Given the description of an element on the screen output the (x, y) to click on. 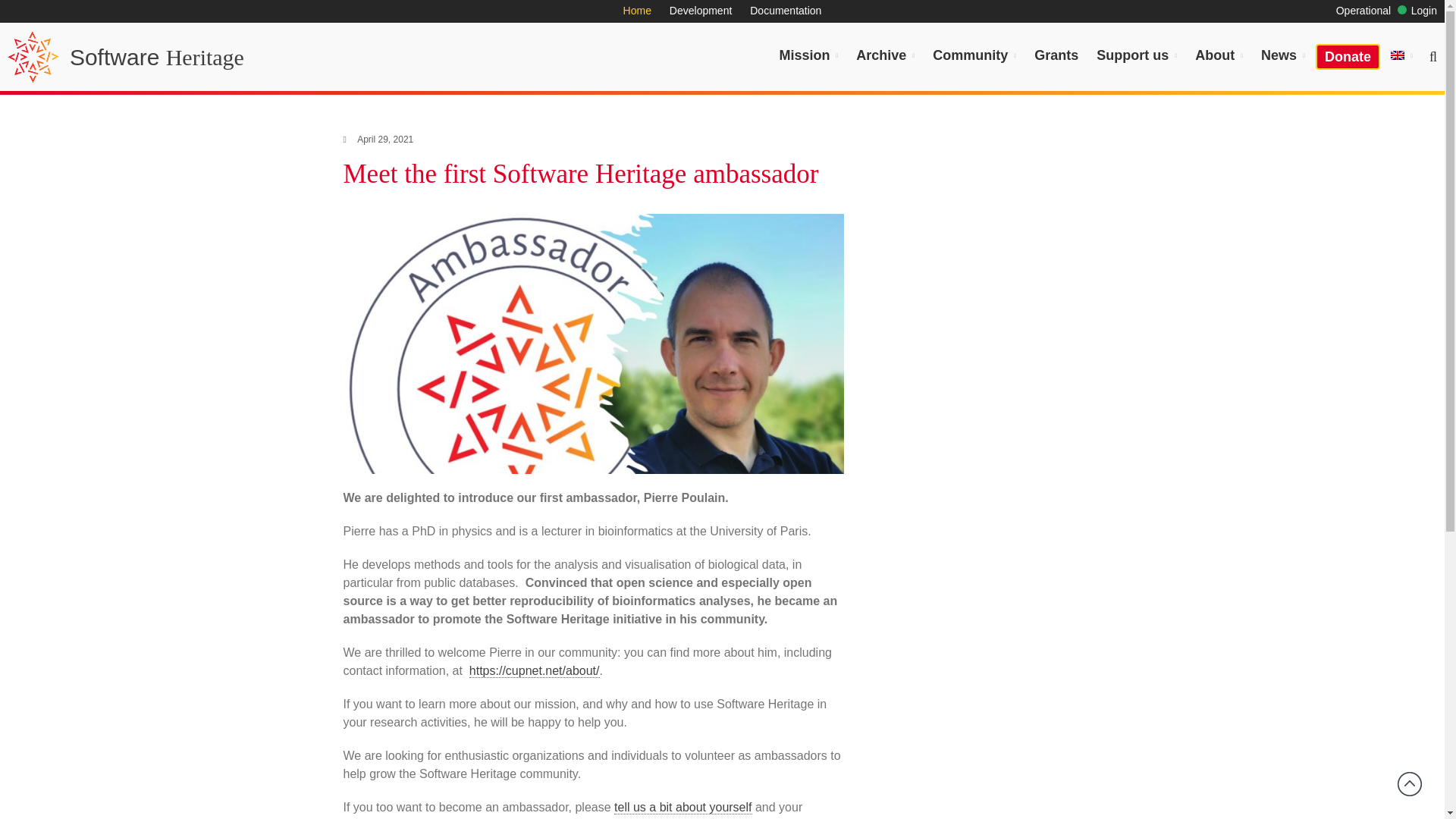
English (1402, 55)
